Given the description of an element on the screen output the (x, y) to click on. 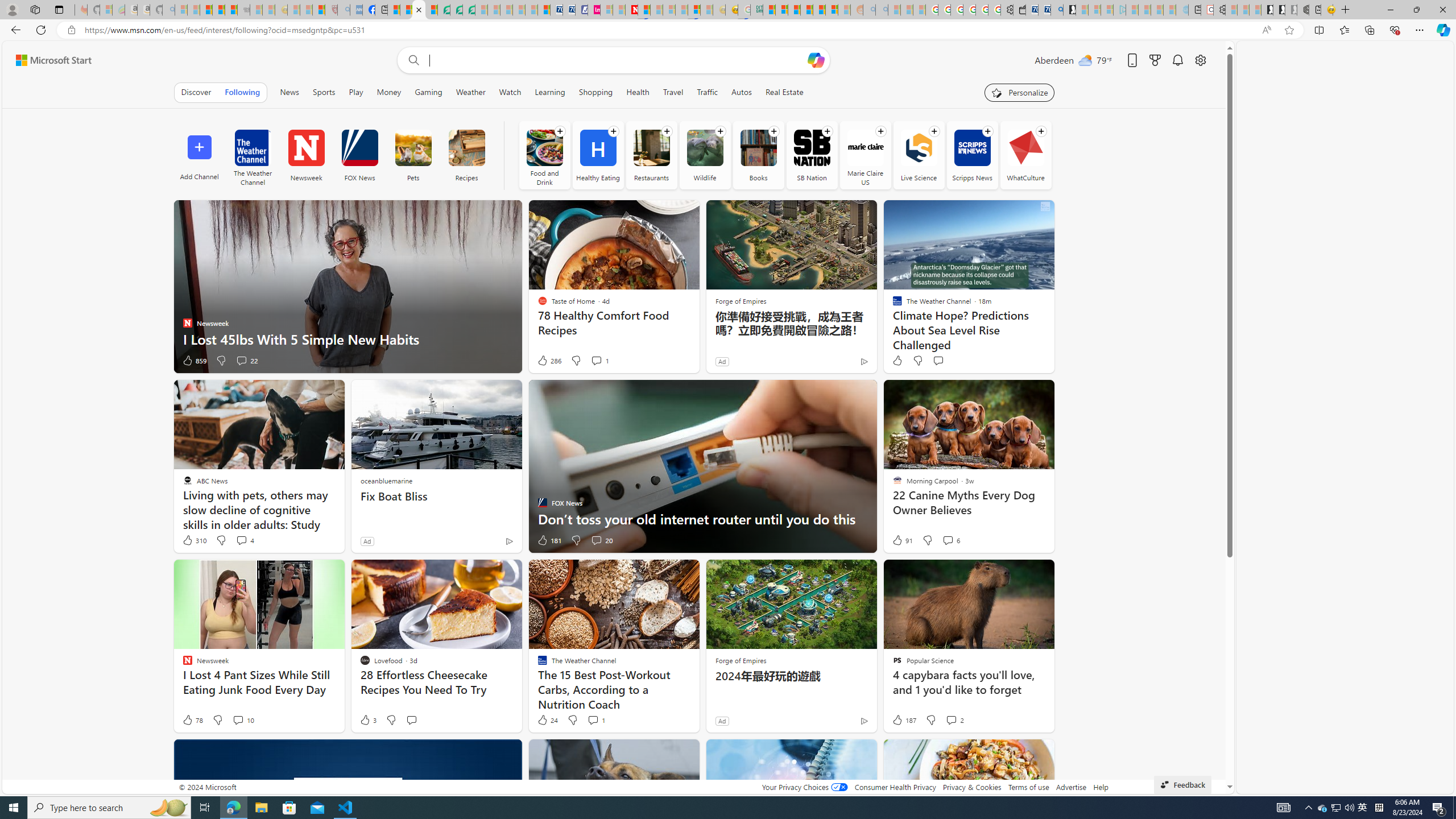
SB Nation (811, 155)
Newsweek (306, 155)
Newsweek (306, 147)
View comments 10 Comment (243, 719)
